Given the description of an element on the screen output the (x, y) to click on. 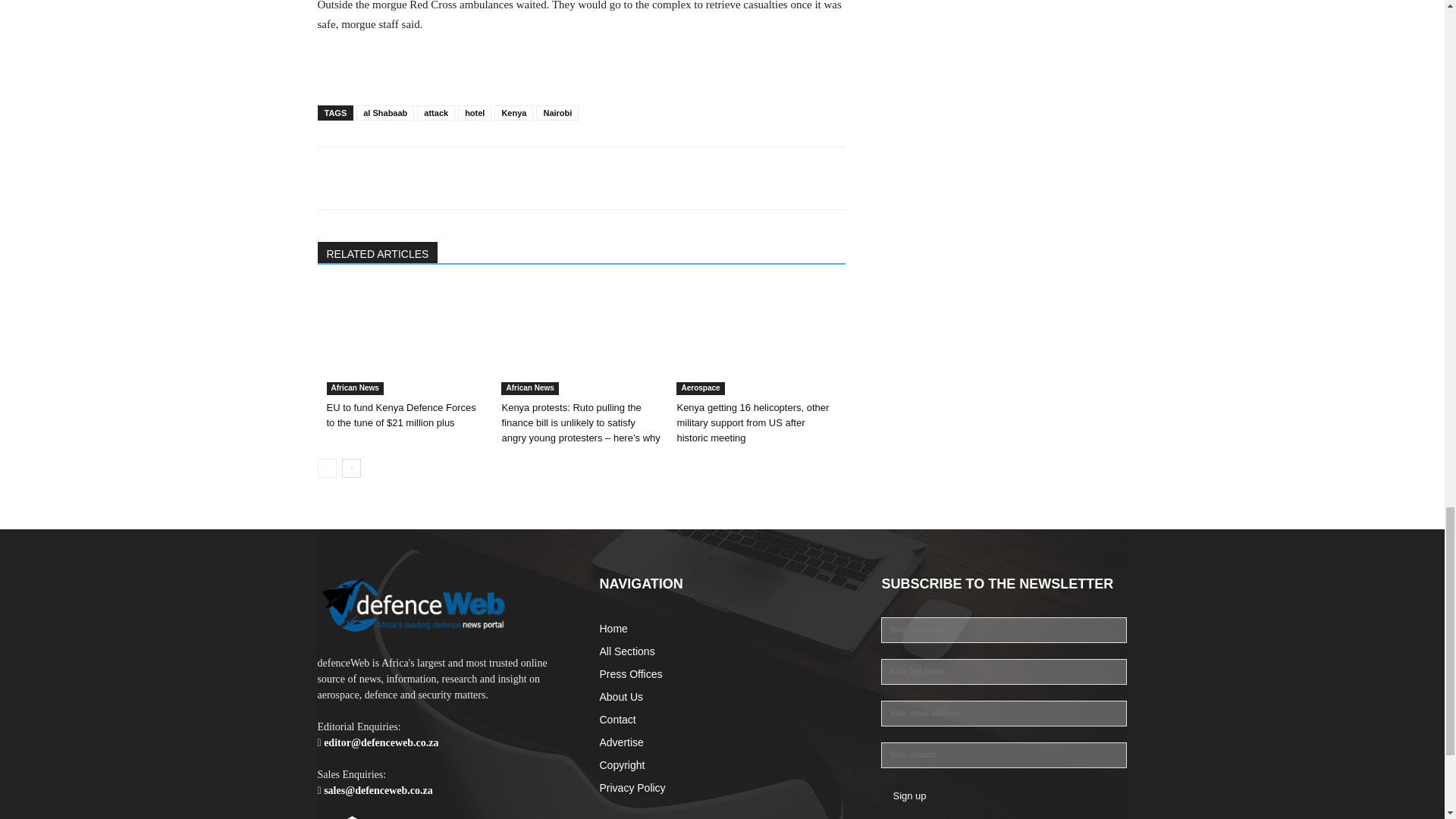
Sign up (908, 795)
